Given the description of an element on the screen output the (x, y) to click on. 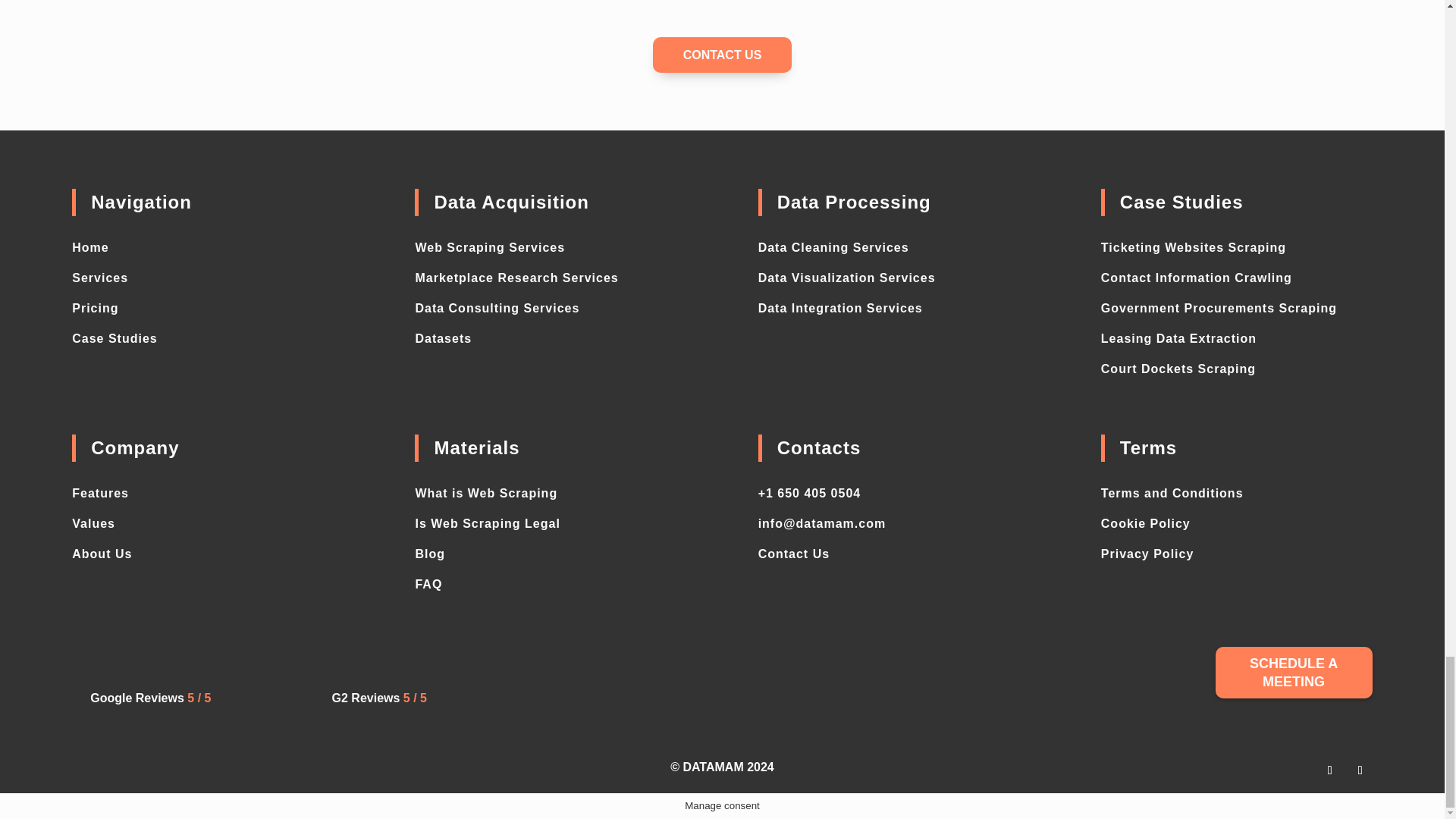
Datasets (442, 338)
Data Integration Services (840, 308)
Web Scraping Services (489, 246)
Home (89, 246)
Ticketing Websites Scraping (1192, 246)
CONTACT US (722, 54)
Services (99, 277)
Pricing (94, 308)
leader-spring (608, 672)
iso-27001-v2 (1065, 672)
Government Procurements Scraping (1218, 308)
Marketplace Research Services (515, 277)
Follow on Youtube (1360, 770)
Data Visualization Services (847, 277)
Data Cleaning Services (833, 246)
